Given the description of an element on the screen output the (x, y) to click on. 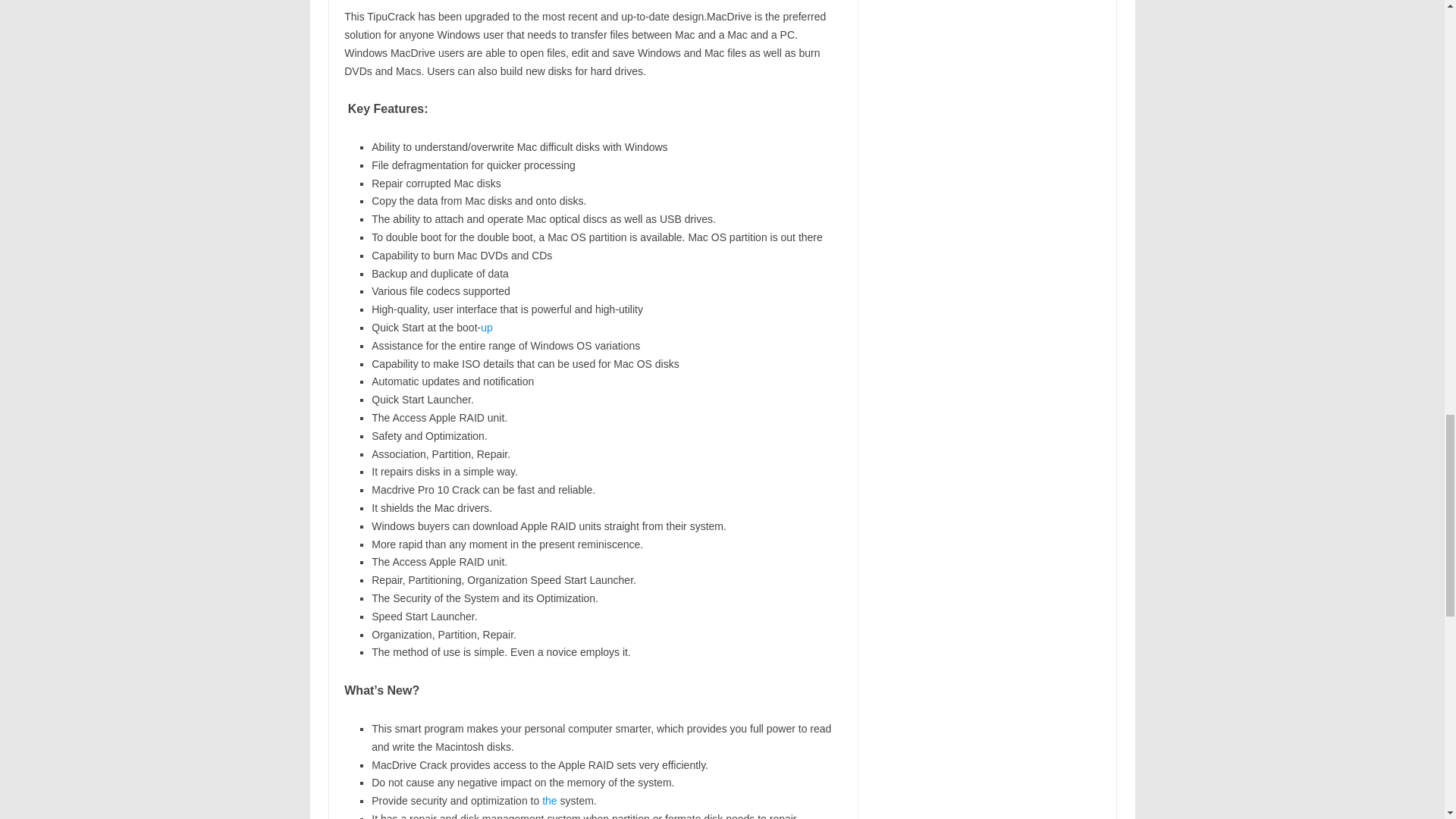
up (486, 327)
the (548, 800)
